Given the description of an element on the screen output the (x, y) to click on. 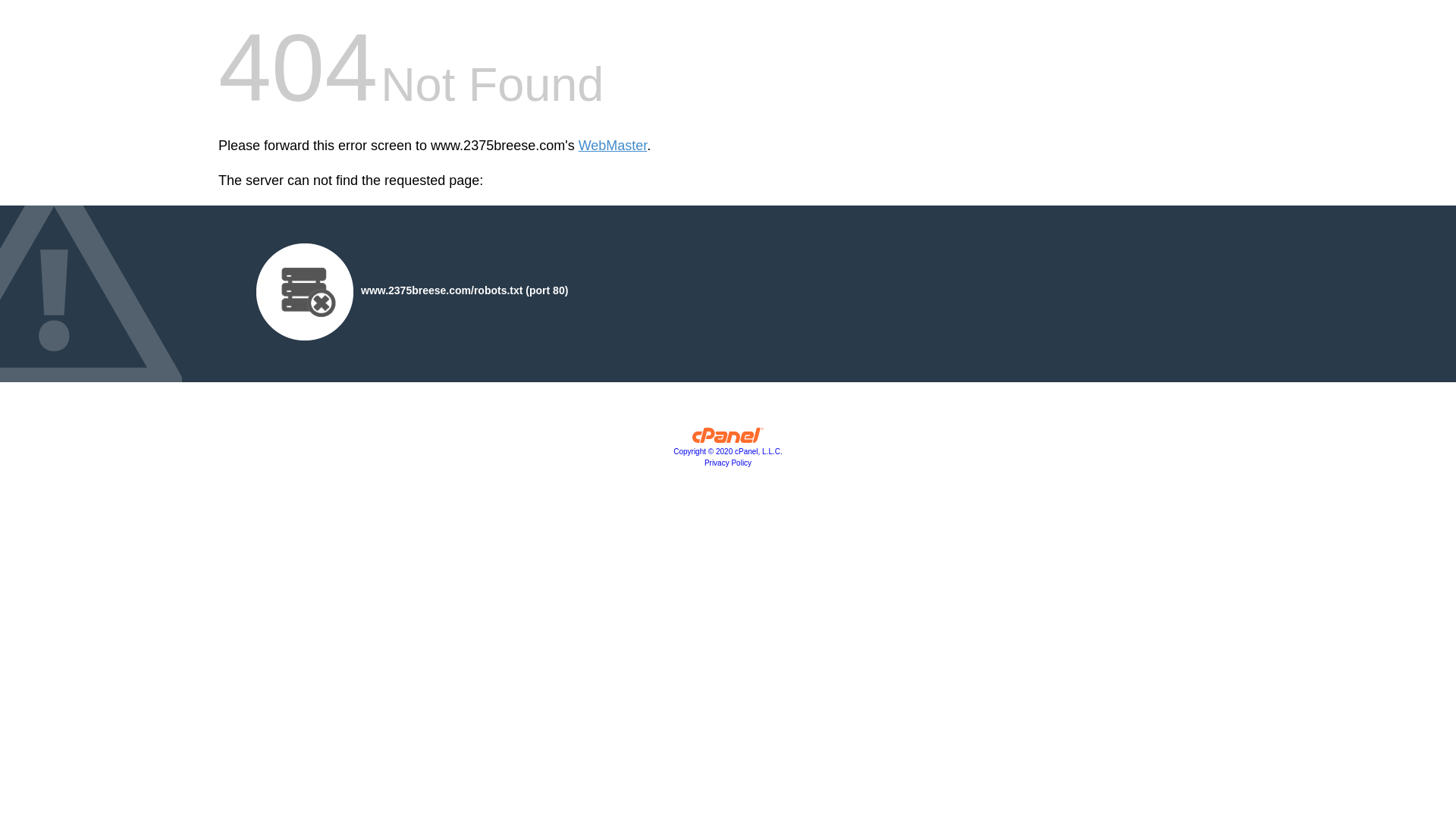
cPanel, Inc. Element type: hover (728, 439)
Privacy Policy Element type: text (727, 462)
WebMaster Element type: text (612, 145)
